Given the description of an element on the screen output the (x, y) to click on. 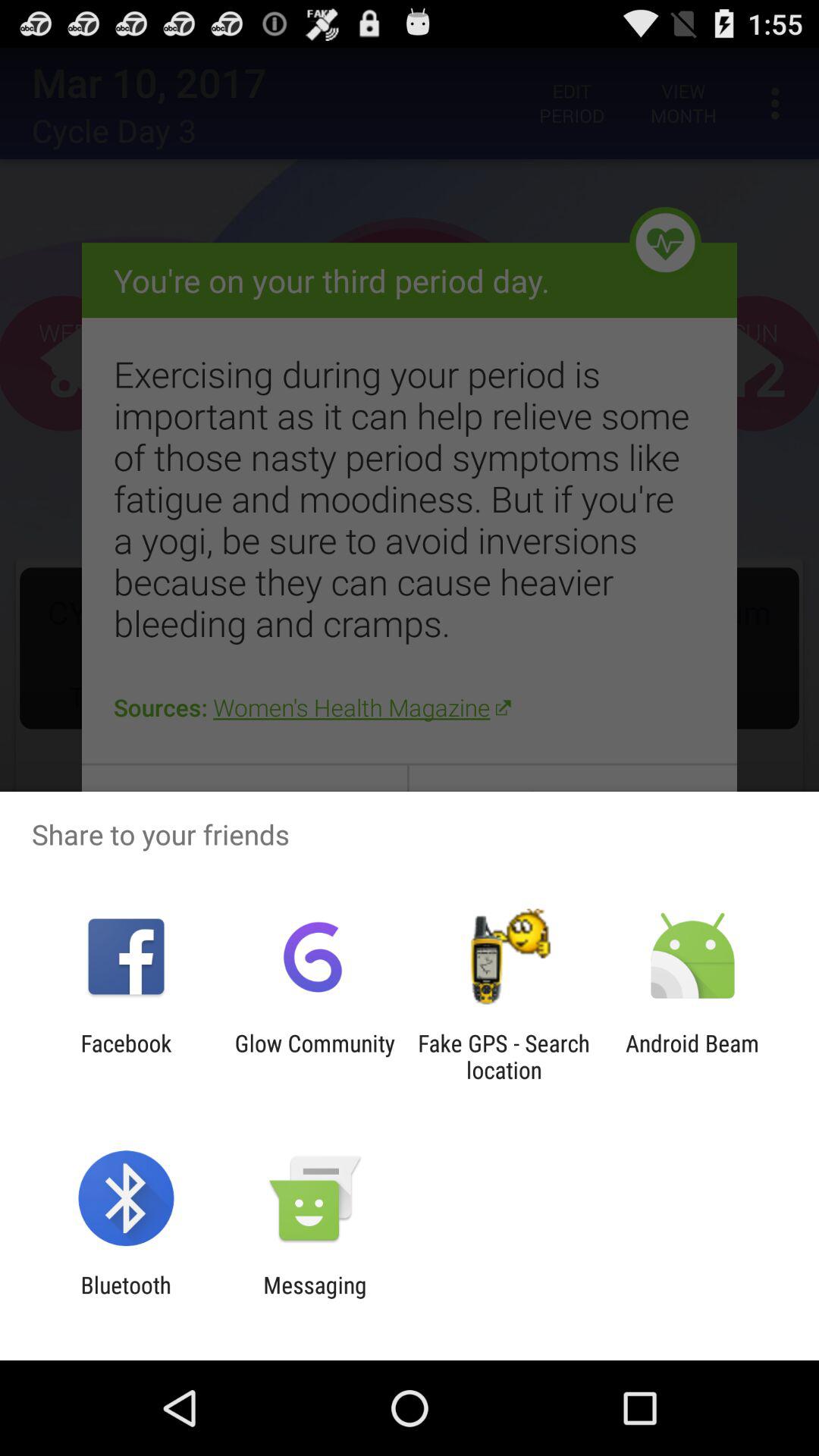
tap android beam at the bottom right corner (692, 1056)
